Given the description of an element on the screen output the (x, y) to click on. 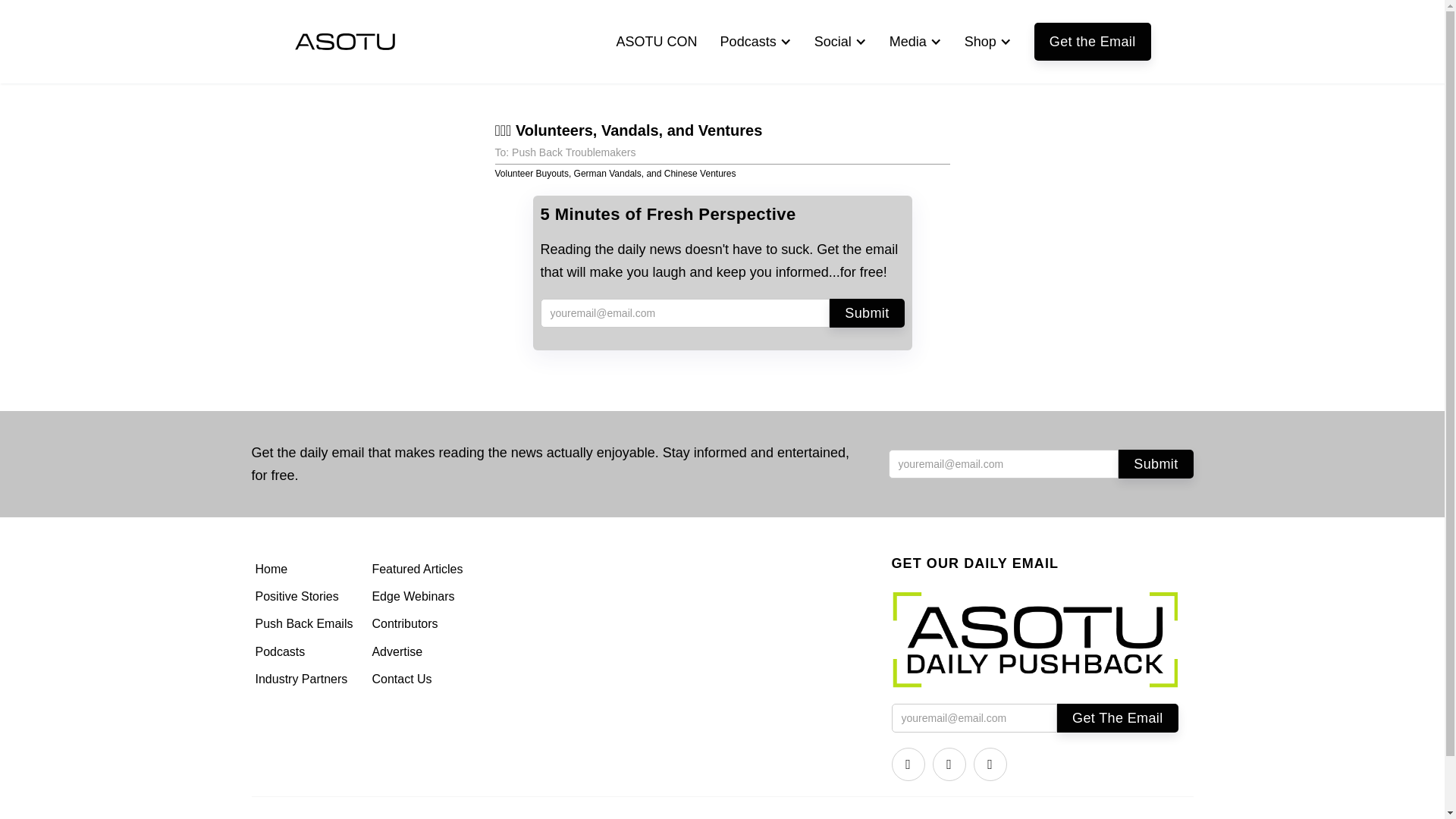
Get The Email (1117, 717)
Advertise (419, 651)
Push Back Emails (306, 624)
ASOTU CON (657, 41)
Submit (866, 312)
Submit (866, 312)
Positive Stories (306, 596)
Industry Partners (306, 678)
Featured Articles (419, 569)
Privacy Policy (1165, 816)
Submit (1155, 463)
Home (306, 569)
Contact Us (419, 678)
Submit (1155, 463)
Contributors (419, 624)
